Given the description of an element on the screen output the (x, y) to click on. 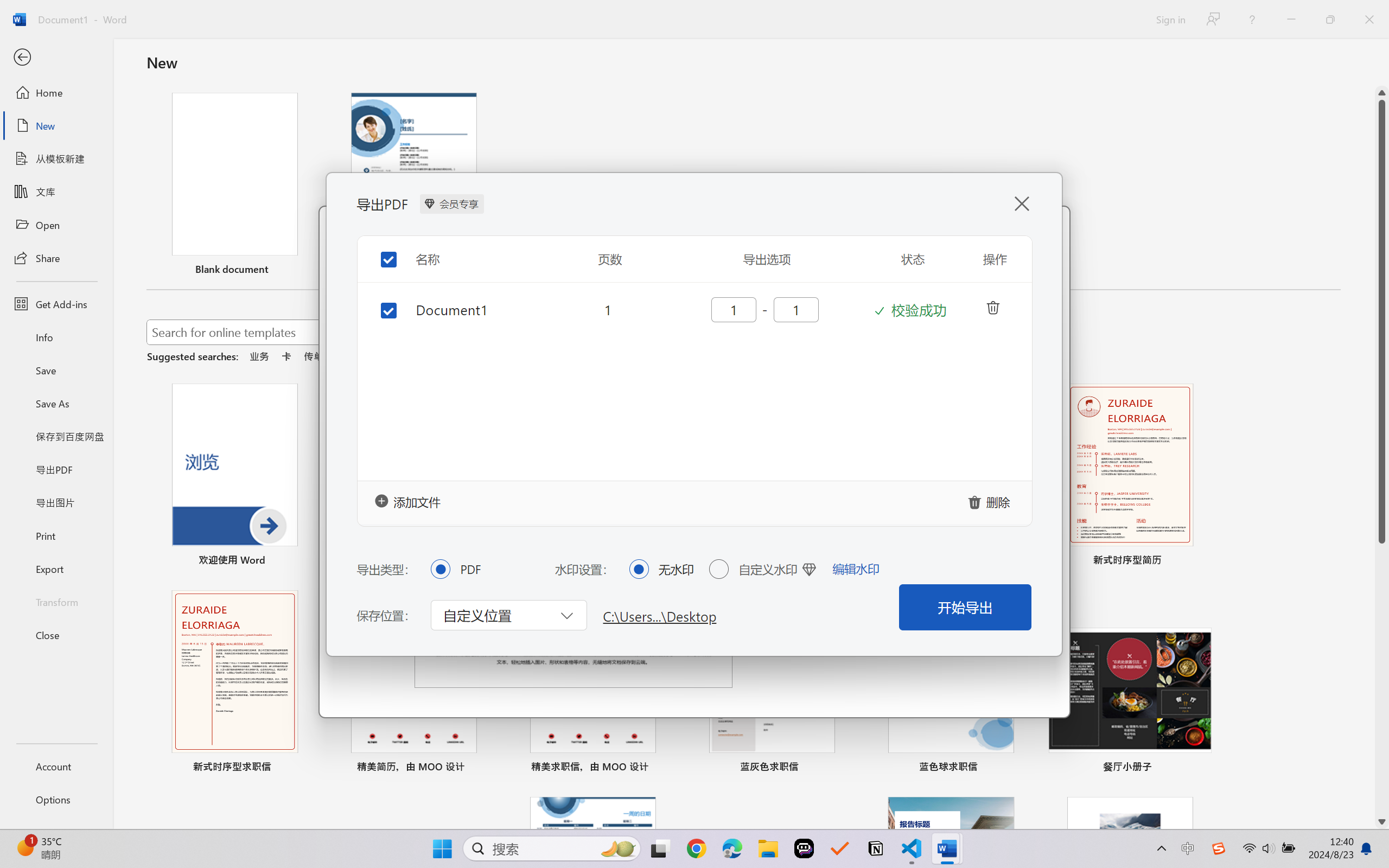
deleteColumn (992, 305)
1 - 1 (764, 308)
Document1 (477, 308)
